Given the description of an element on the screen output the (x, y) to click on. 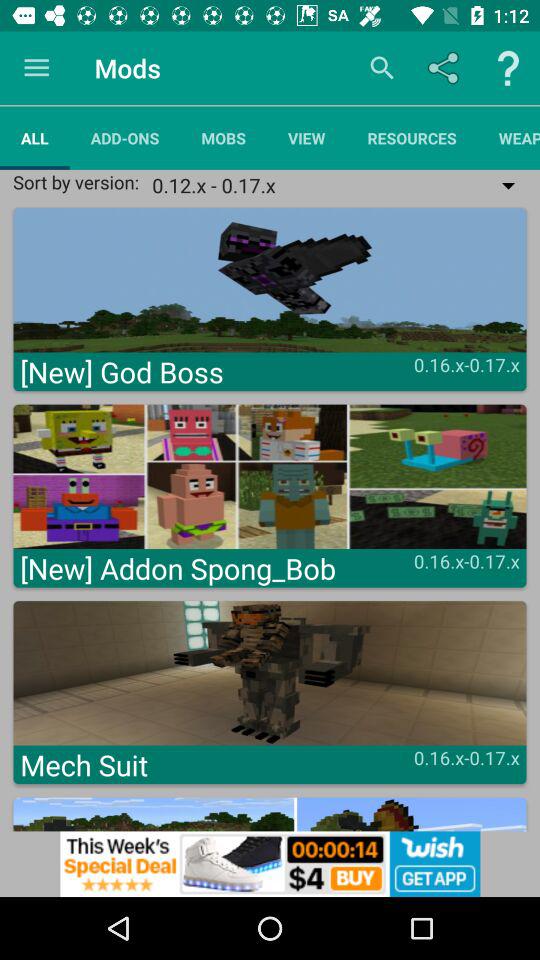
help button (508, 67)
